Given the description of an element on the screen output the (x, y) to click on. 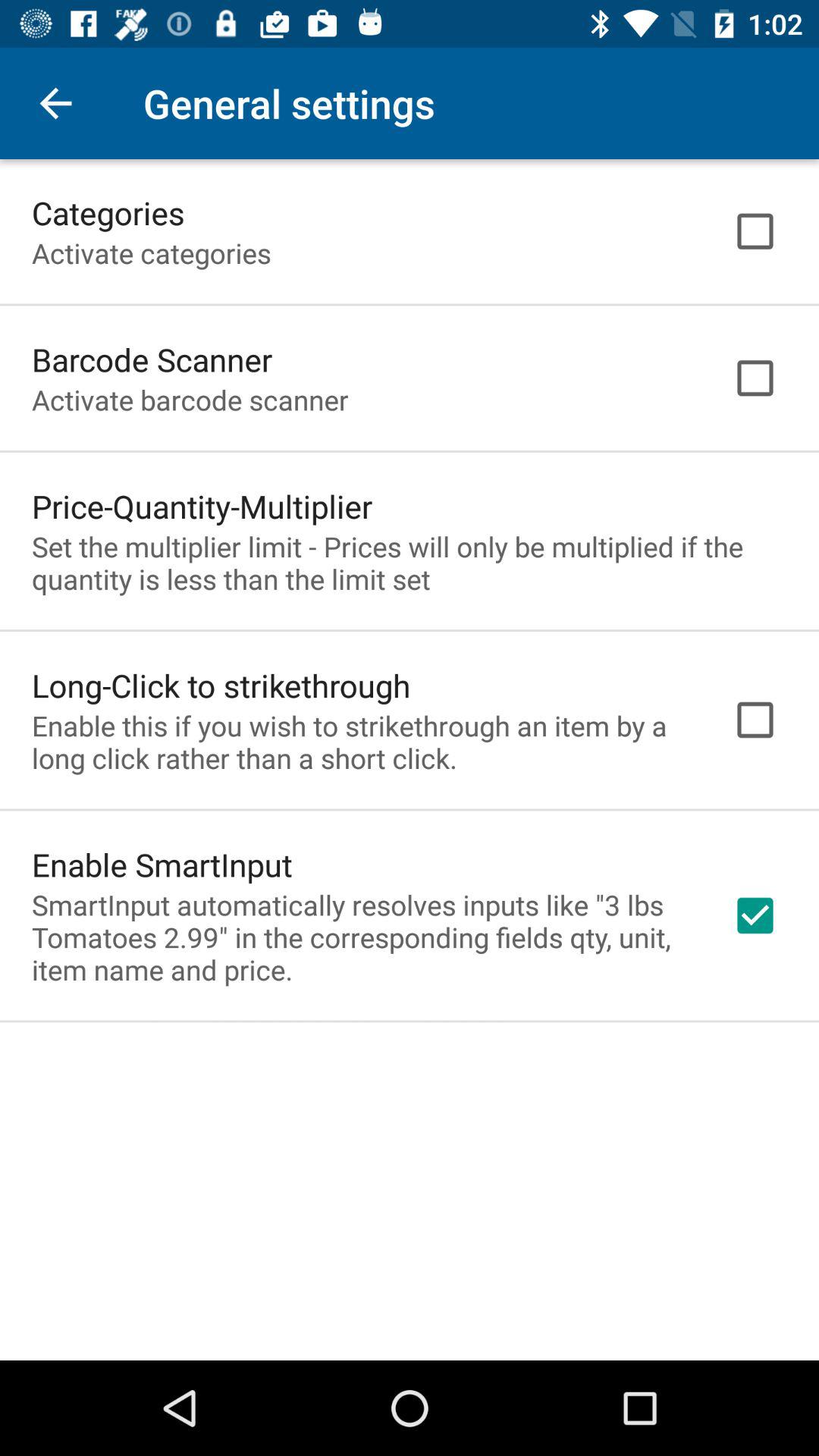
turn off the set the multiplier icon (409, 562)
